Given the description of an element on the screen output the (x, y) to click on. 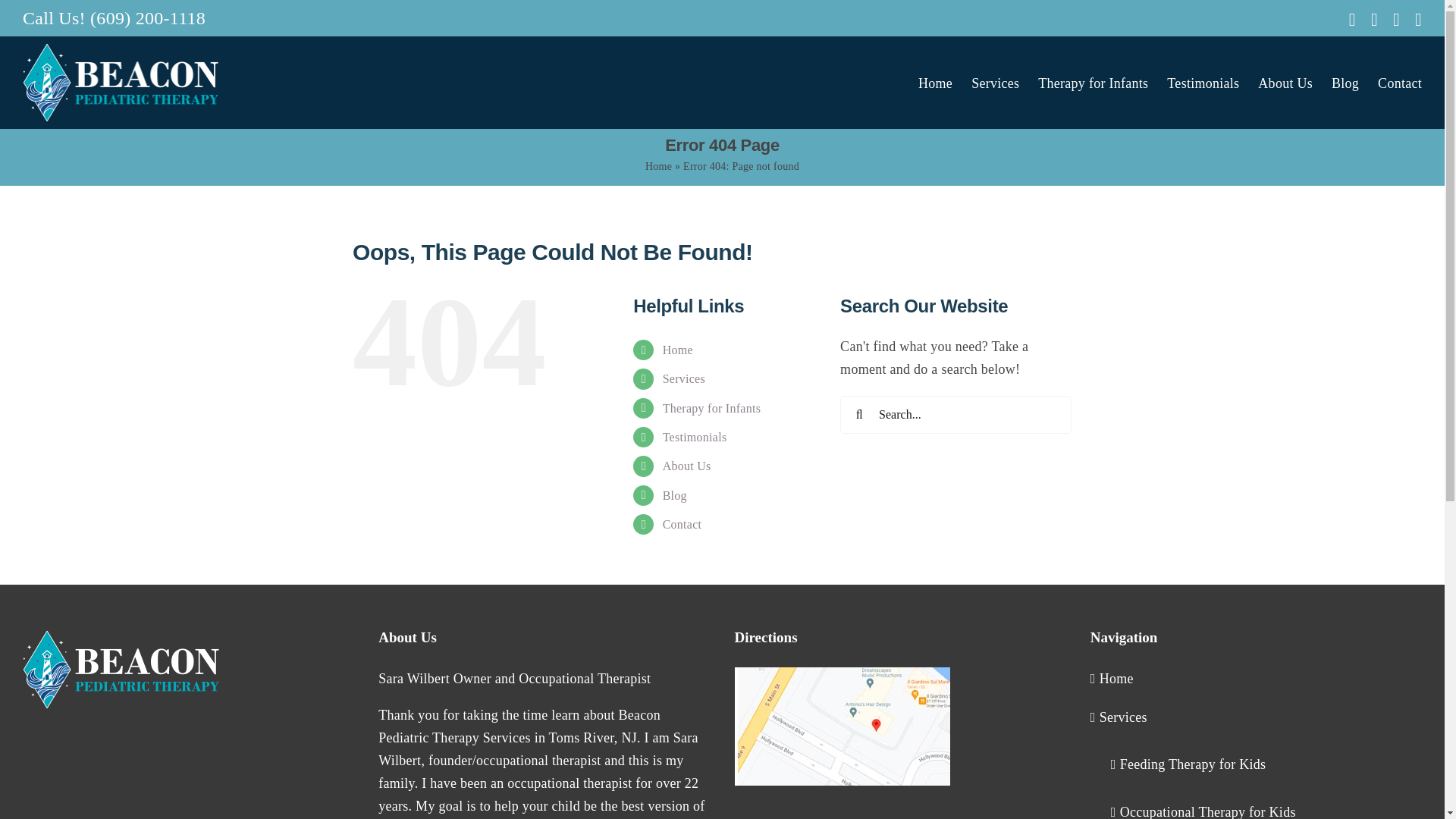
Home (658, 165)
Therapy for Infants (1093, 81)
Therapy for Infants (711, 408)
Home (677, 349)
Services (683, 378)
